Given the description of an element on the screen output the (x, y) to click on. 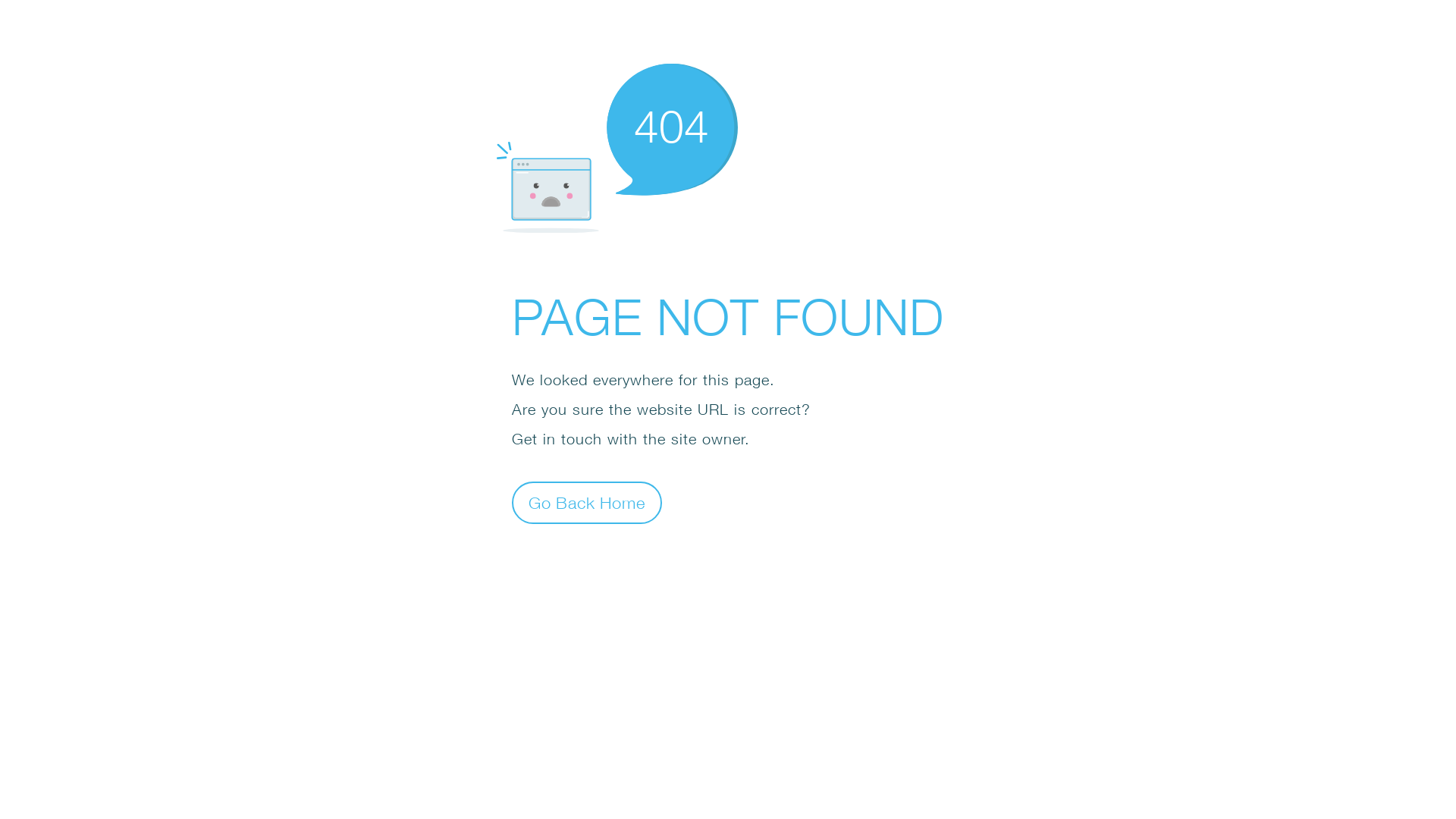
Go Back Home Element type: text (586, 502)
